Given the description of an element on the screen output the (x, y) to click on. 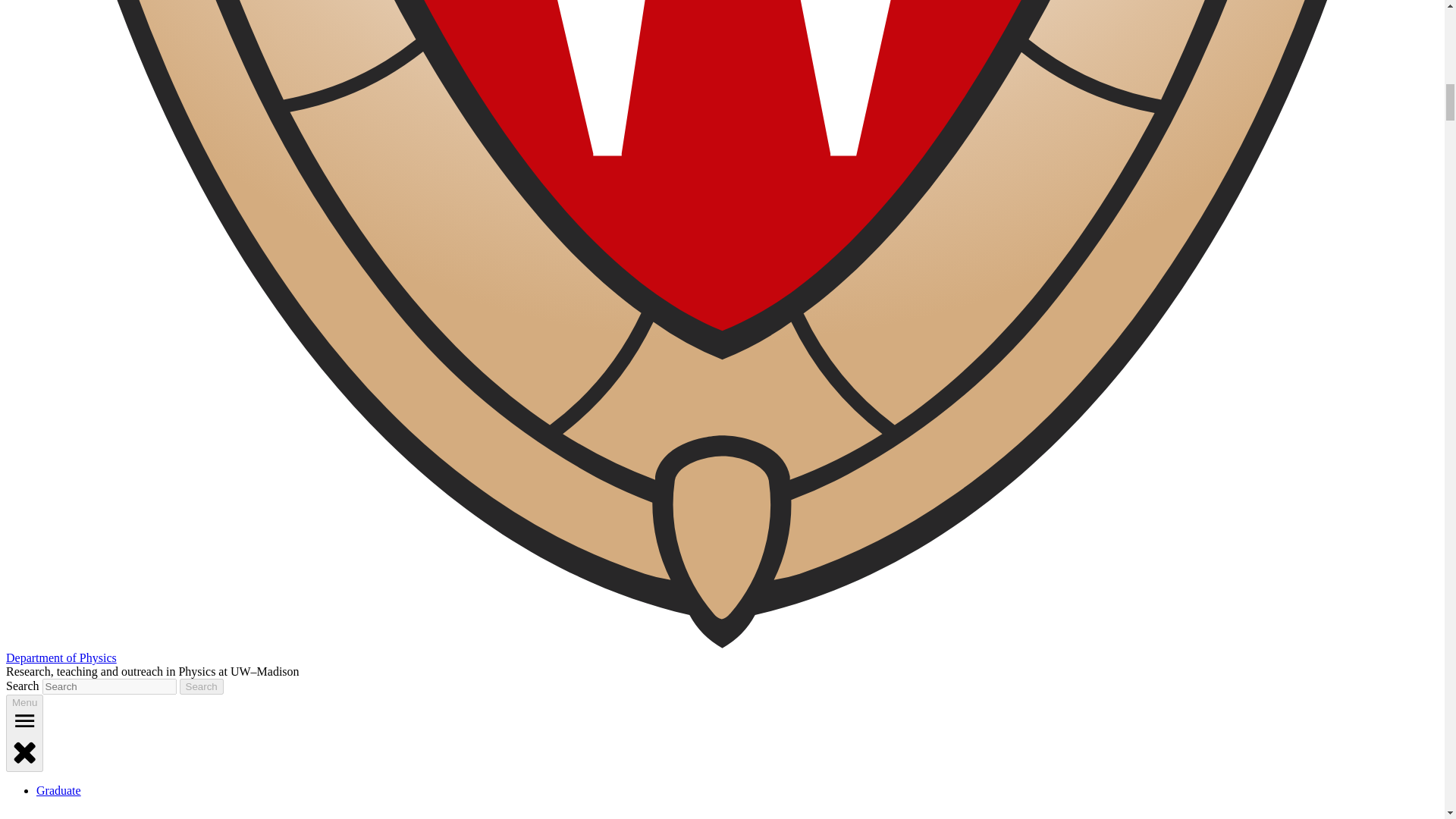
Search (201, 686)
Search (201, 686)
open menu (24, 720)
Department of Physics (60, 657)
Search (201, 686)
